Given the description of an element on the screen output the (x, y) to click on. 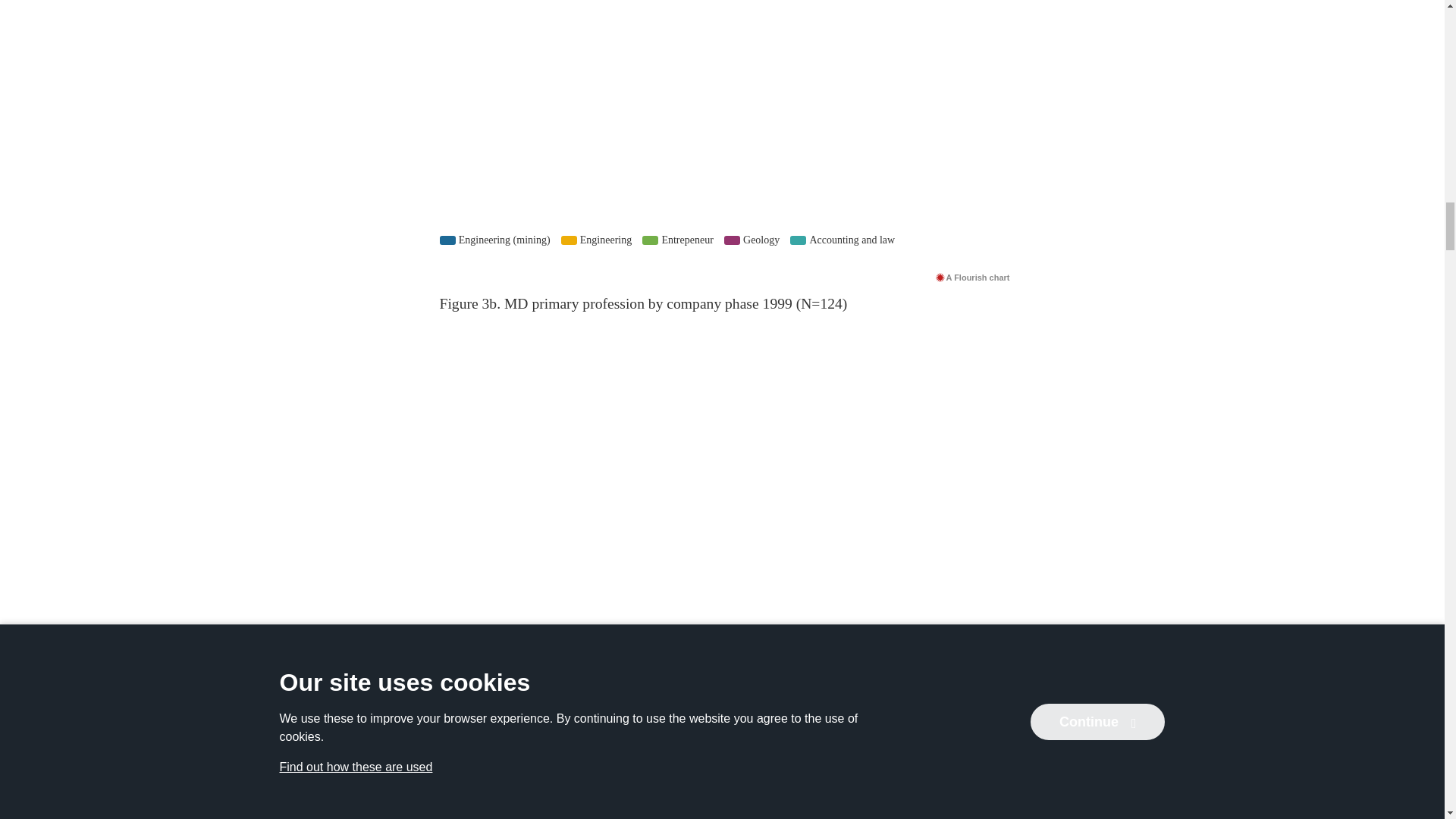
A Flourish chart (972, 277)
A Flourish chart (972, 734)
